Given the description of an element on the screen output the (x, y) to click on. 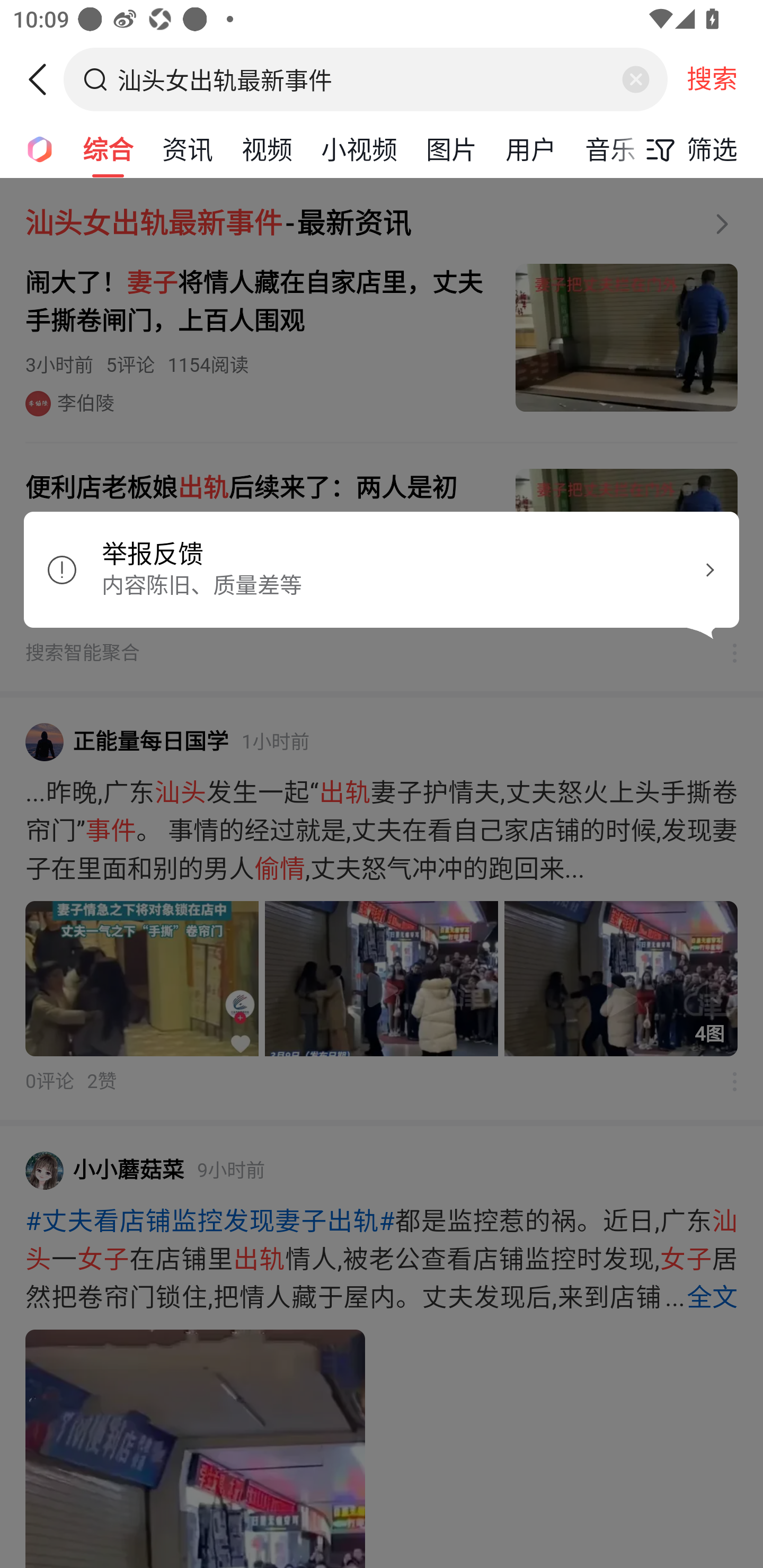
搜索框，汕头女出轨最新事件 (366, 79)
搜索 (711, 79)
返回 (44, 79)
清除 (635, 79)
资讯 (187, 148)
视频 (266, 148)
小视频 (359, 148)
图片 (451, 148)
用户 (530, 148)
筛选 (686, 149)
AI问答 (34, 148)
